Given the description of an element on the screen output the (x, y) to click on. 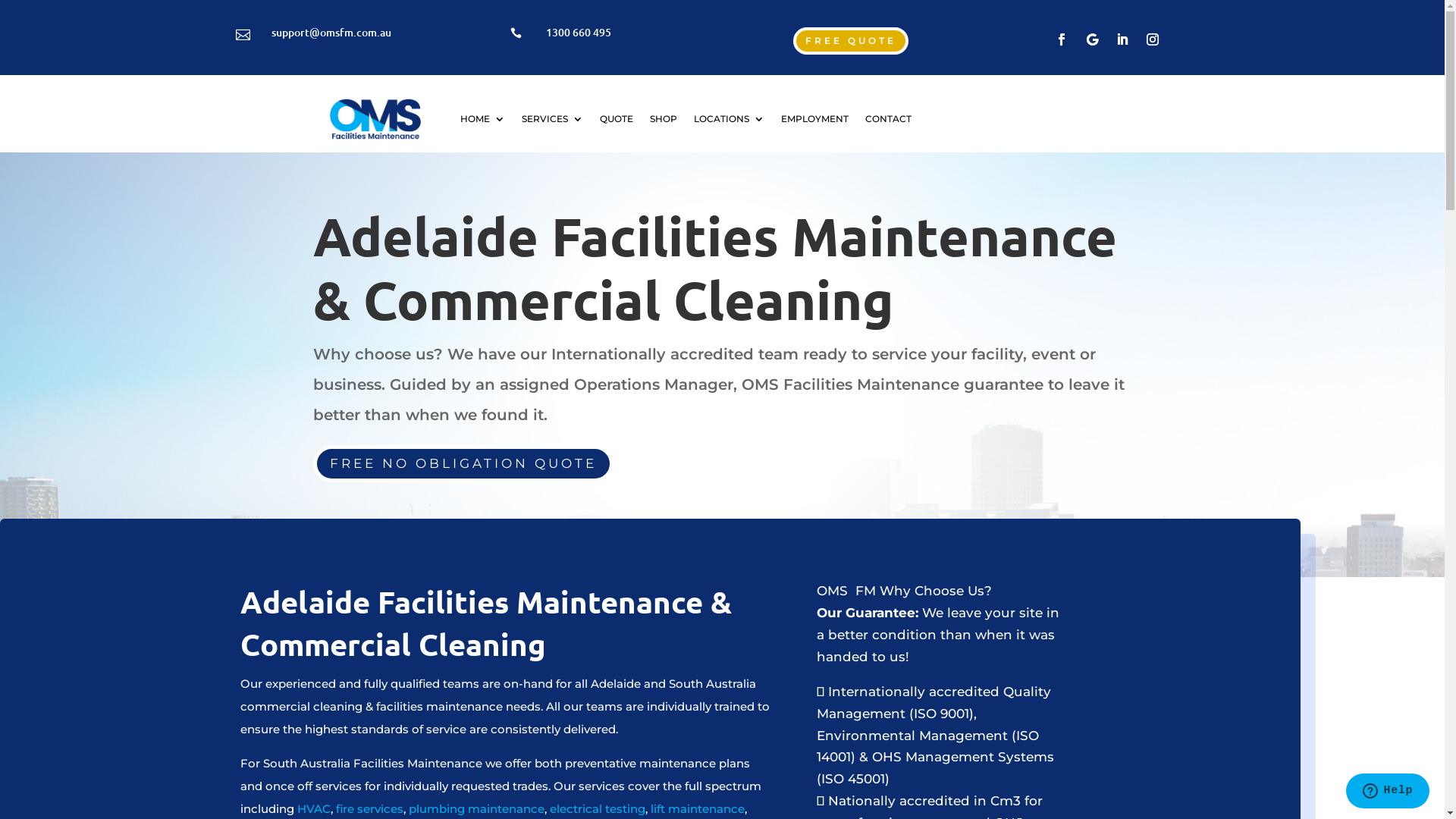
fire services Element type: text (369, 808)
Opens a widget where you can chat to one of our agents Element type: hover (1387, 792)
QUOTE Element type: text (616, 118)
LOCATIONS Element type: text (728, 118)
FREE NO OBLIGATION QUOTE Element type: text (462, 463)
Follow on LinkedIn Element type: hover (1122, 39)
support@omsfm.com.au Element type: text (331, 32)
SERVICES Element type: text (552, 118)
electrical testing Element type: text (597, 808)
lift maintenance Element type: text (697, 808)
SHOP Element type: text (663, 118)
Follow on Google Element type: hover (1091, 39)
HVAC Element type: text (313, 808)
HOME Element type: text (482, 118)
Follow on Facebook Element type: hover (1061, 39)
CONTACT Element type: text (888, 118)
Why Choose Us? Element type: text (935, 590)
plumbing maintenance Element type: text (474, 808)
EMPLOYMENT Element type: text (814, 118)
FREE QUOTE Element type: text (850, 40)
Follow on Instagram Element type: hover (1152, 39)
